Given the description of an element on the screen output the (x, y) to click on. 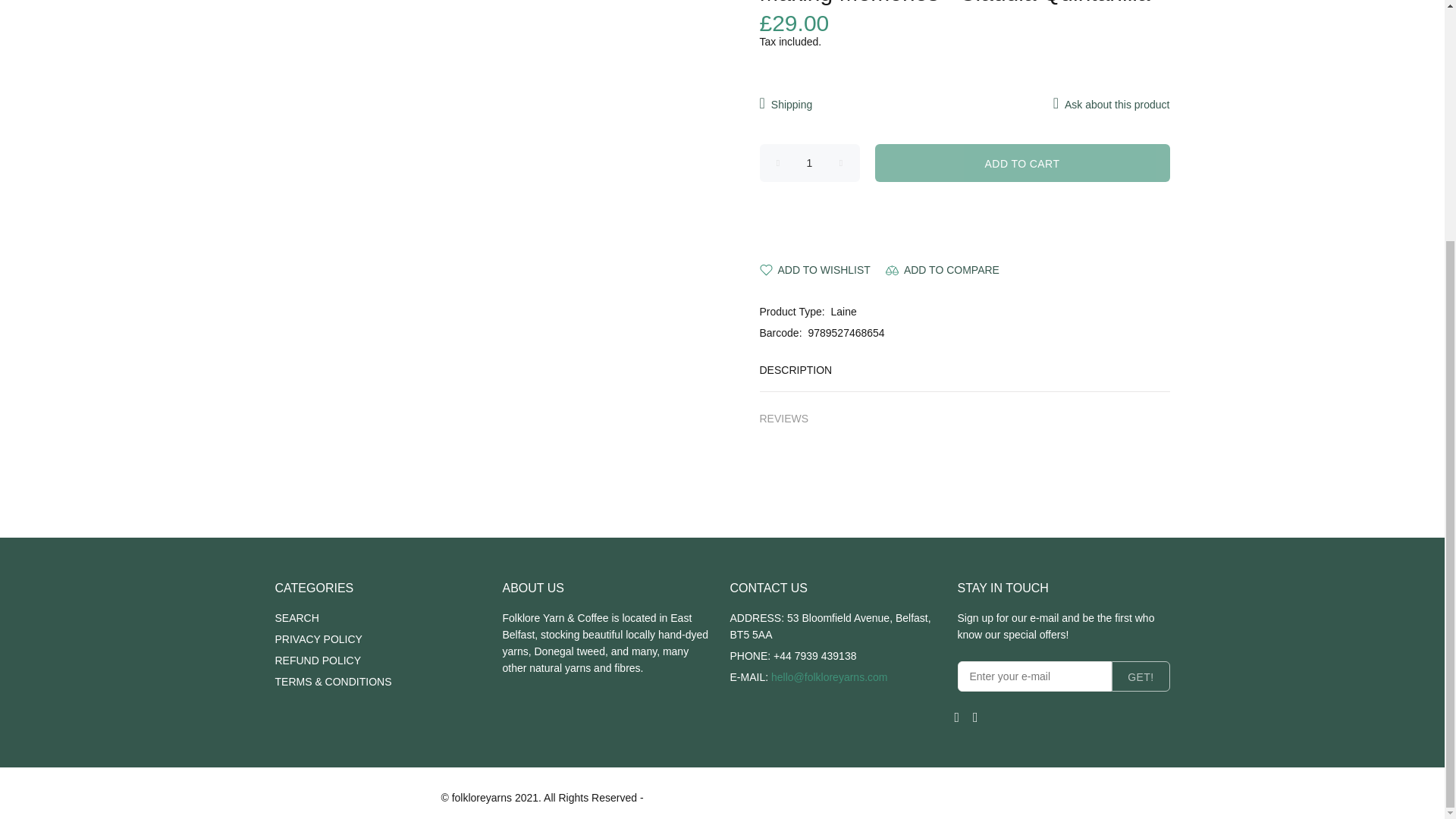
1 (810, 162)
